Given the description of an element on the screen output the (x, y) to click on. 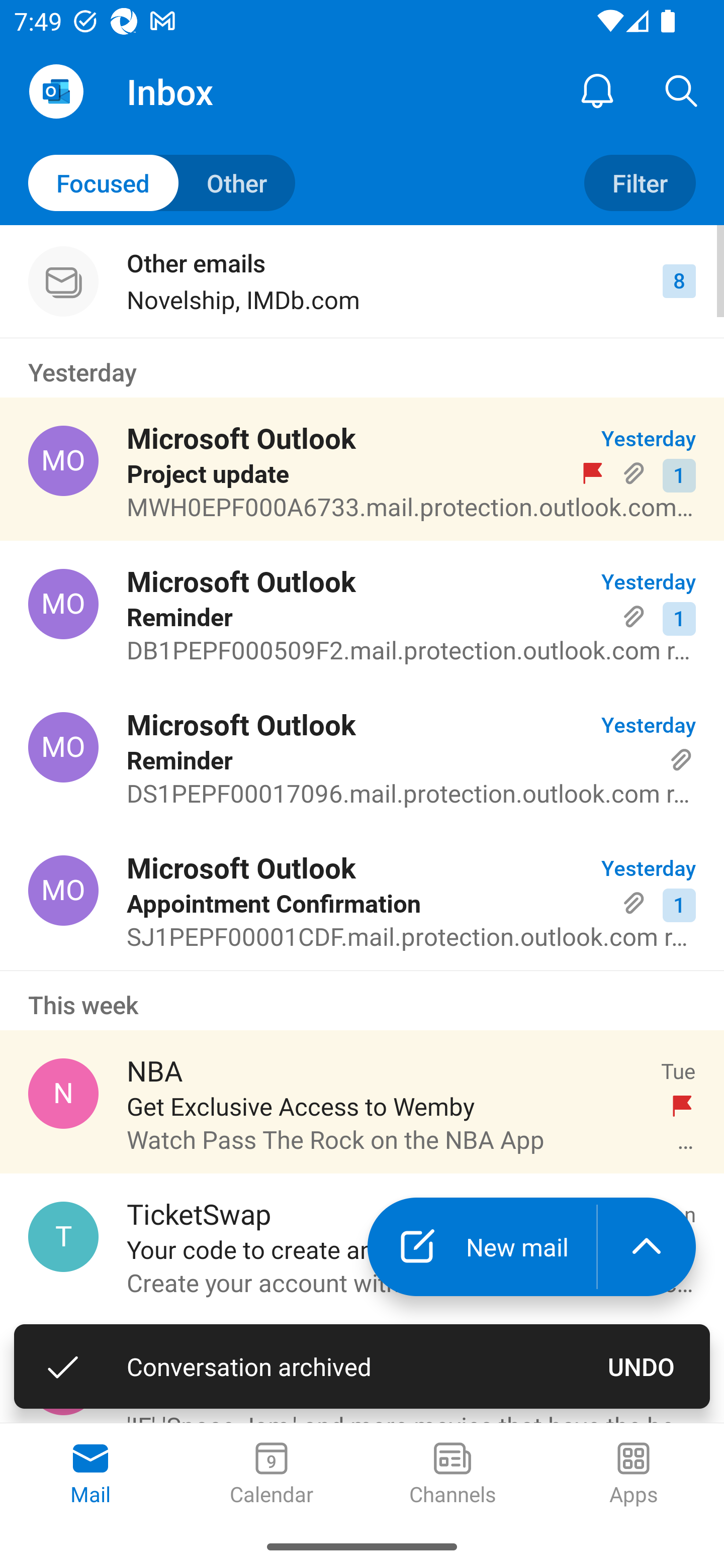
Notification Center (597, 90)
Search, ,  (681, 90)
Open Navigation Drawer (55, 91)
Toggle to other mails (161, 183)
Filter (639, 183)
Other emails Novelship, IMDb.com 8 (362, 281)
NBA, NBA@email.nba.com (63, 1093)
New mail (481, 1246)
launch the extended action menu (646, 1246)
TicketSwap, info@ticketswap.com (63, 1236)
UNDO (641, 1366)
IMDb.com, do-not-reply@imdb.com (63, 1380)
Calendar (271, 1474)
Channels (452, 1474)
Apps (633, 1474)
